Given the description of an element on the screen output the (x, y) to click on. 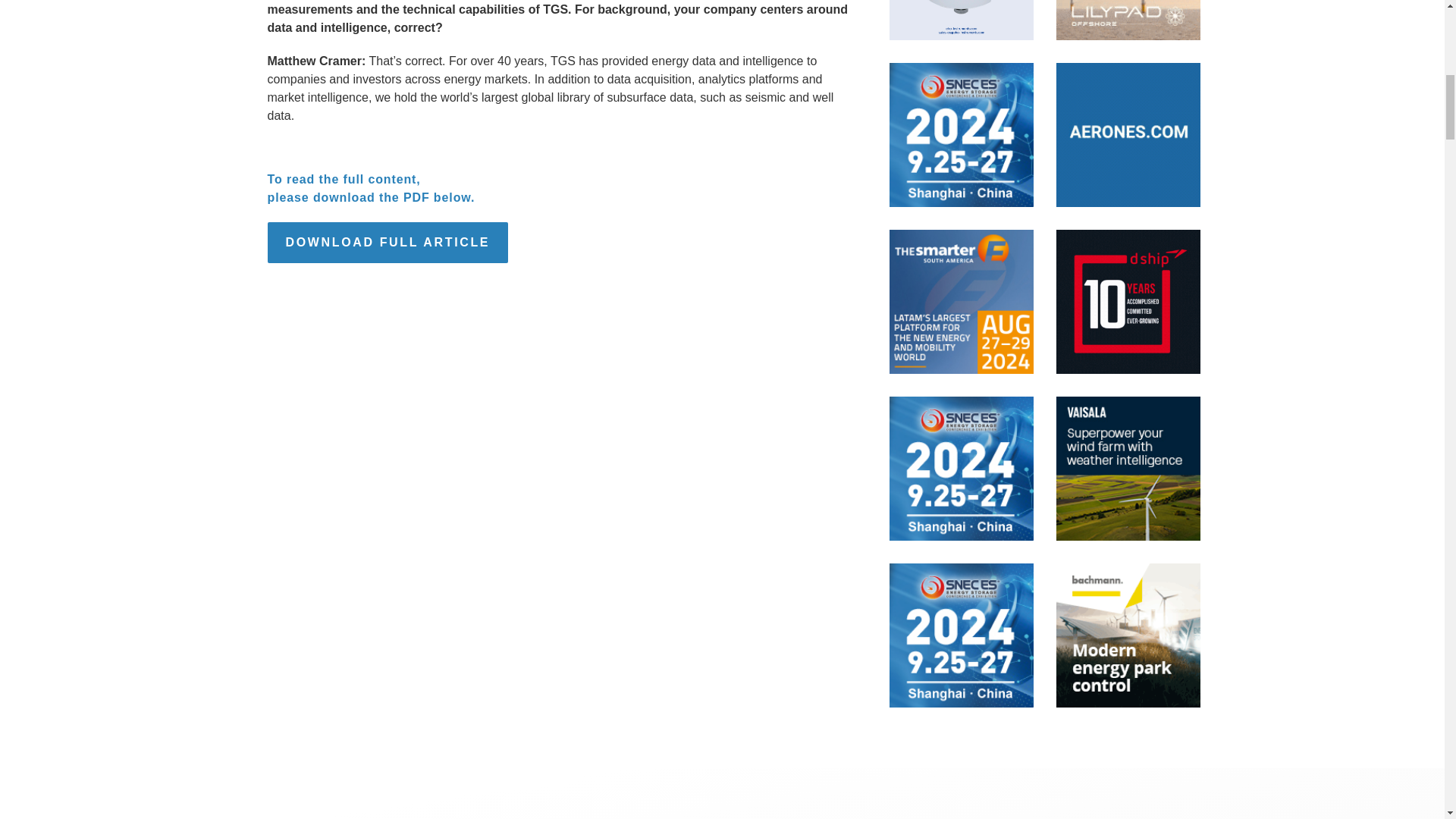
DOWNLOAD FULL ARTICLE (387, 241)
